Given the description of an element on the screen output the (x, y) to click on. 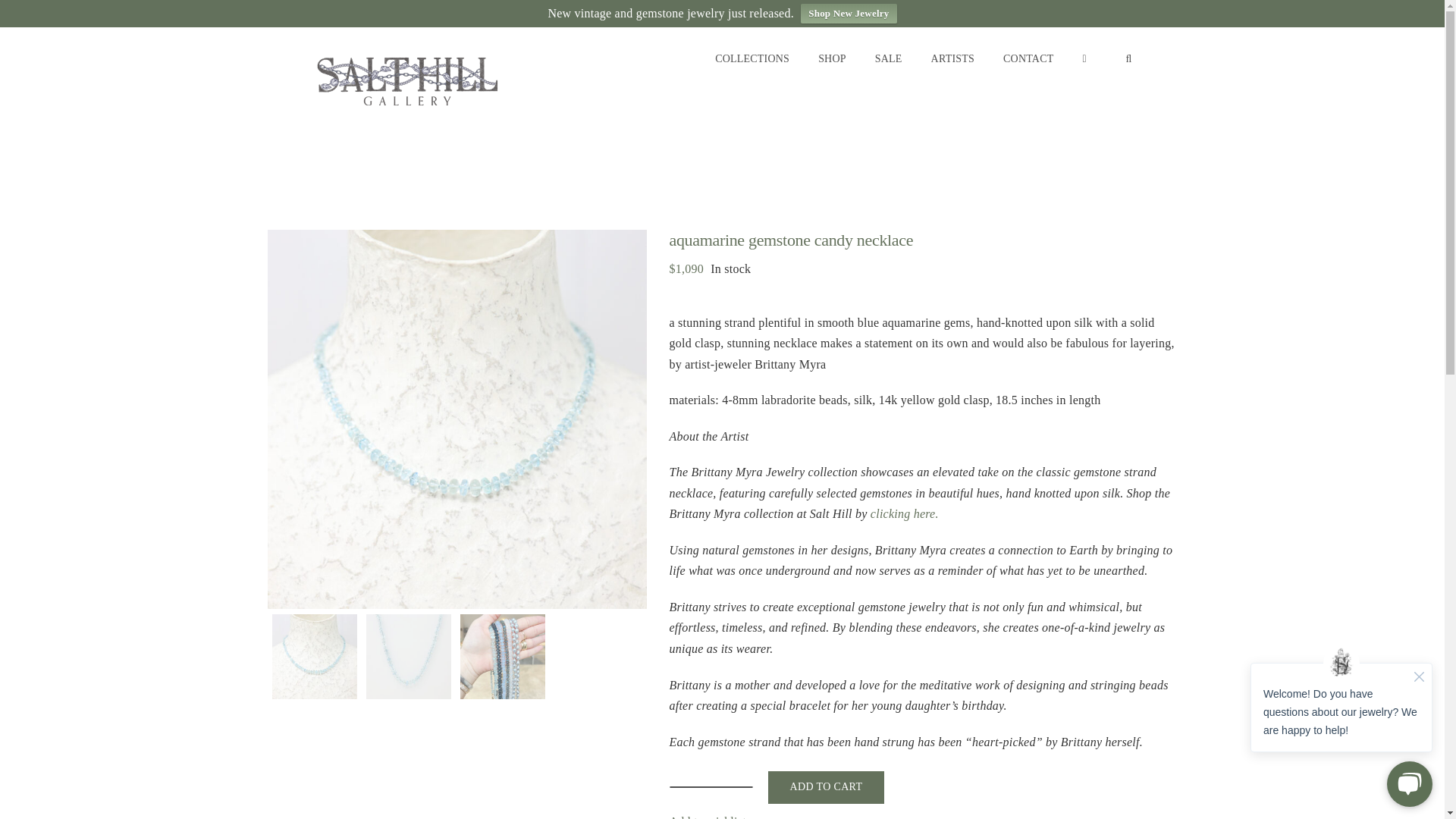
COLLECTIONS (751, 58)
Shop New Jewelry (848, 13)
